Given the description of an element on the screen output the (x, y) to click on. 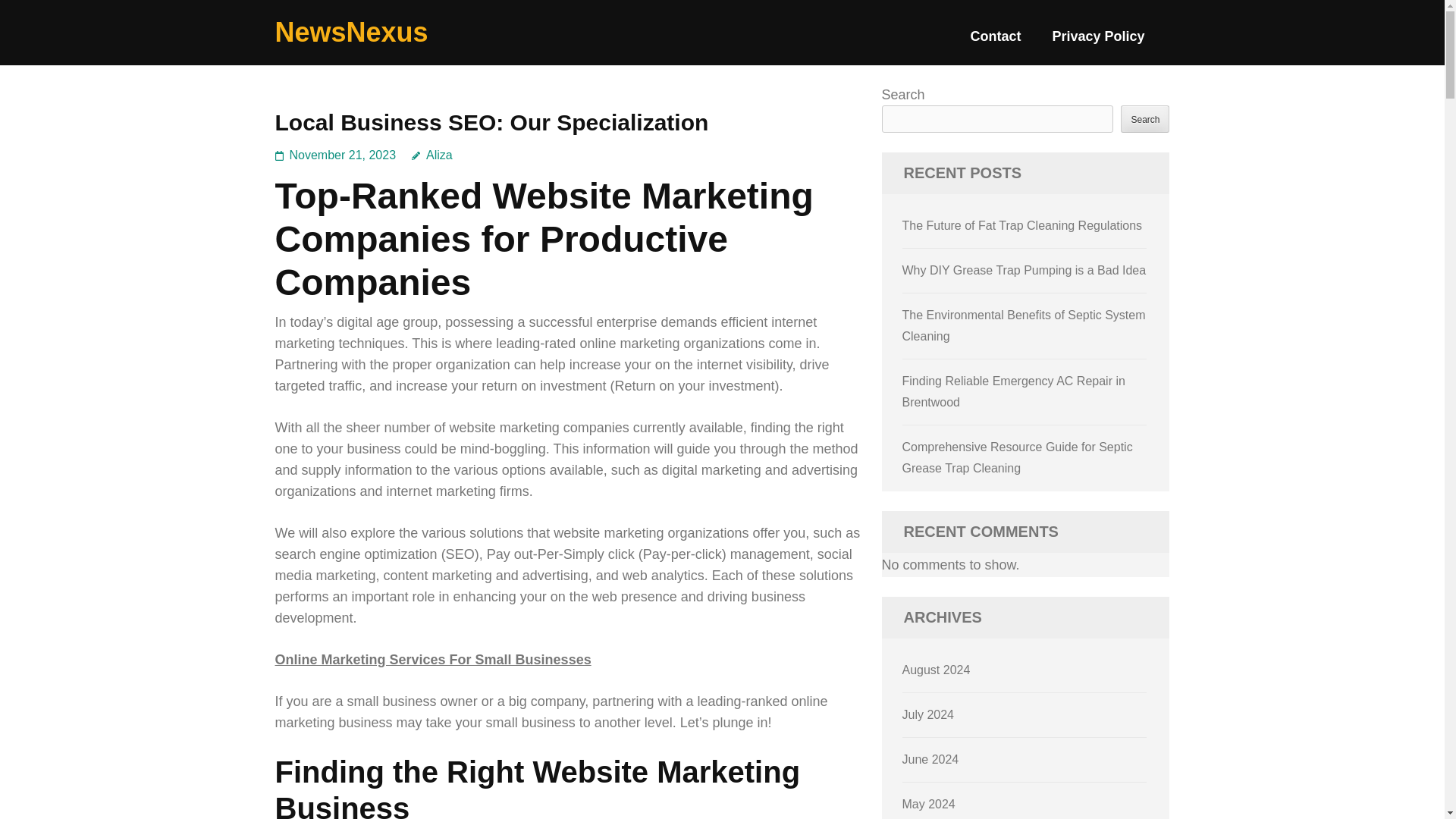
November 21, 2023 (342, 154)
Online Marketing Services For Small Businesses (433, 659)
June 2024 (930, 758)
The Future of Fat Trap Cleaning Regulations (1022, 225)
Finding Reliable Emergency AC Repair in Brentwood (1013, 391)
Privacy Policy (1097, 42)
Comprehensive Resource Guide for Septic Grease Trap Cleaning (1017, 457)
July 2024 (928, 714)
Why DIY Grease Trap Pumping is a Bad Idea (1024, 269)
Aliza (432, 154)
May 2024 (928, 803)
Search (1145, 118)
The Environmental Benefits of Septic System Cleaning (1023, 325)
NewsNexus (351, 31)
August 2024 (936, 669)
